Given the description of an element on the screen output the (x, y) to click on. 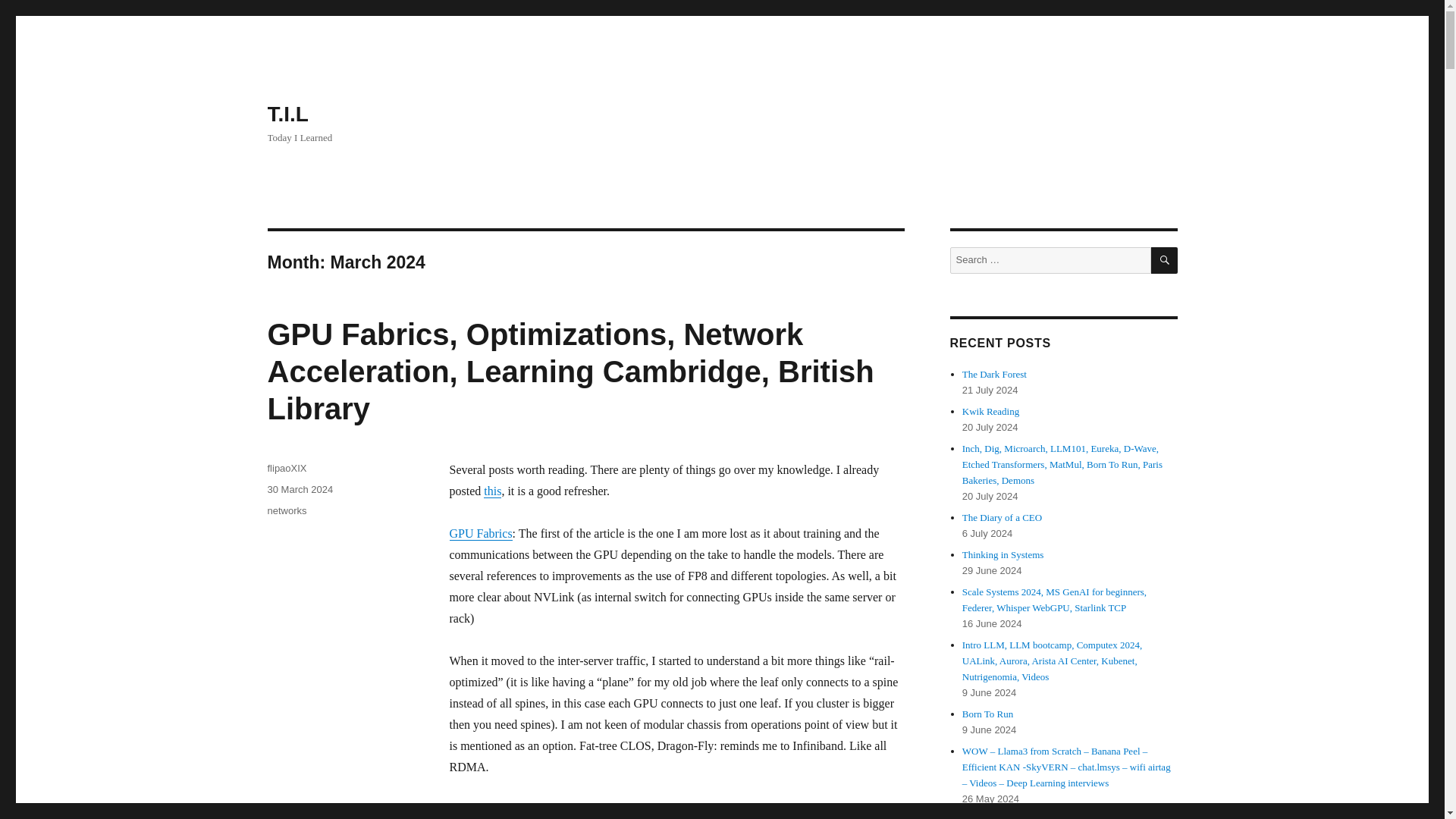
networks (285, 510)
GPU Fabrics (480, 533)
flipaoXIX (285, 468)
this (491, 490)
30 March 2024 (299, 489)
T.I.L (286, 114)
